Given the description of an element on the screen output the (x, y) to click on. 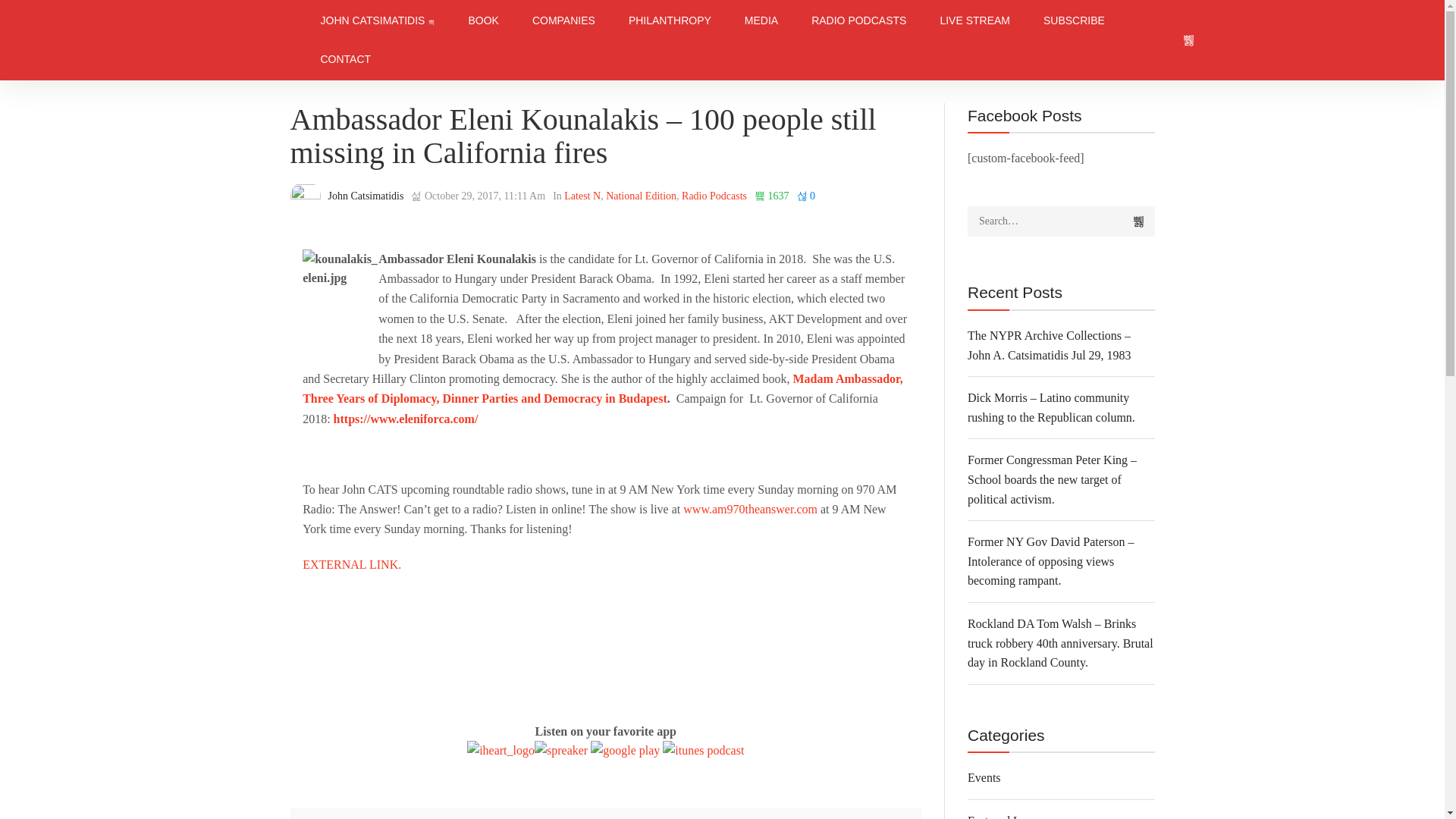
PHILANTHROPY (669, 20)
RADIO PODCASTS (858, 20)
EXTERNAL LINK. (351, 563)
JOHN CATSIMATIDIS (376, 20)
Latest N (581, 196)
John Catsimatidis (365, 195)
Radio Podcasts (713, 196)
BOOK (482, 20)
National Edition (641, 196)
COMPANIES (563, 20)
